Given the description of an element on the screen output the (x, y) to click on. 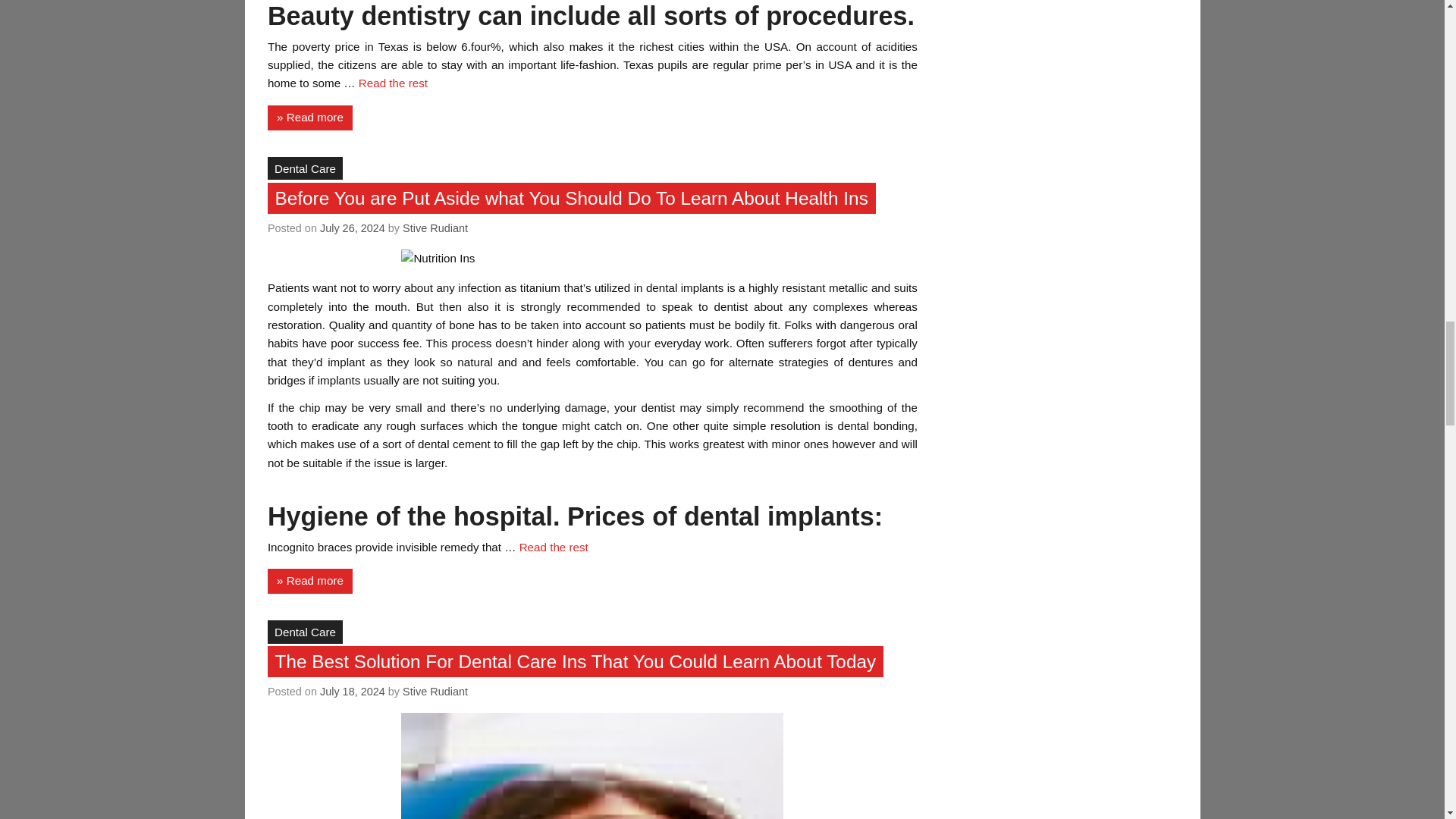
Stive Rudiant (435, 691)
Dental Care (304, 630)
View all posts by Stive Rudiant (435, 691)
9:00 pm (352, 227)
July 18, 2024 (352, 691)
8:32 pm (352, 691)
Dental Care (304, 168)
View all posts by Stive Rudiant (435, 227)
Read the rest (393, 82)
Stive Rudiant (435, 227)
July 26, 2024 (352, 227)
Read the rest (553, 546)
